Given the description of an element on the screen output the (x, y) to click on. 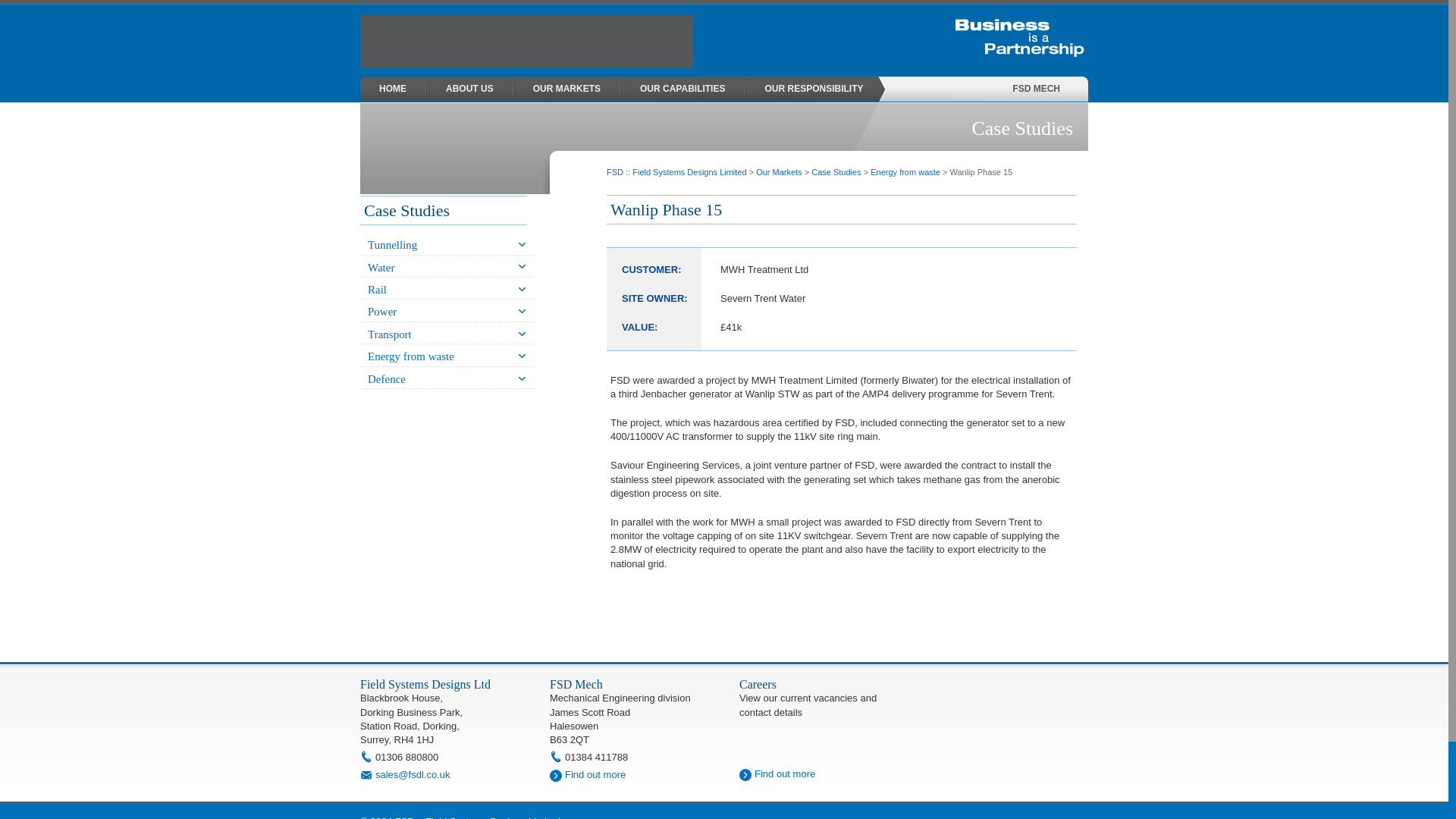
OUR CAPABILITIES (682, 88)
ABOUT US (469, 88)
Go to Case Studies. (835, 171)
HOME (392, 88)
Energy from waste (905, 171)
FSD MECH (1035, 88)
Go to the Energy from waste Category archives. (905, 171)
Our Markets (778, 171)
FSD :: Field Systems Designs Limited (676, 171)
OUR MARKETS (566, 88)
Case Studies (835, 171)
Go to FSD :: Field Systems Designs Limited. (676, 171)
Go to Our Markets. (778, 171)
OUR RESPONSIBILITY (813, 88)
